Given the description of an element on the screen output the (x, y) to click on. 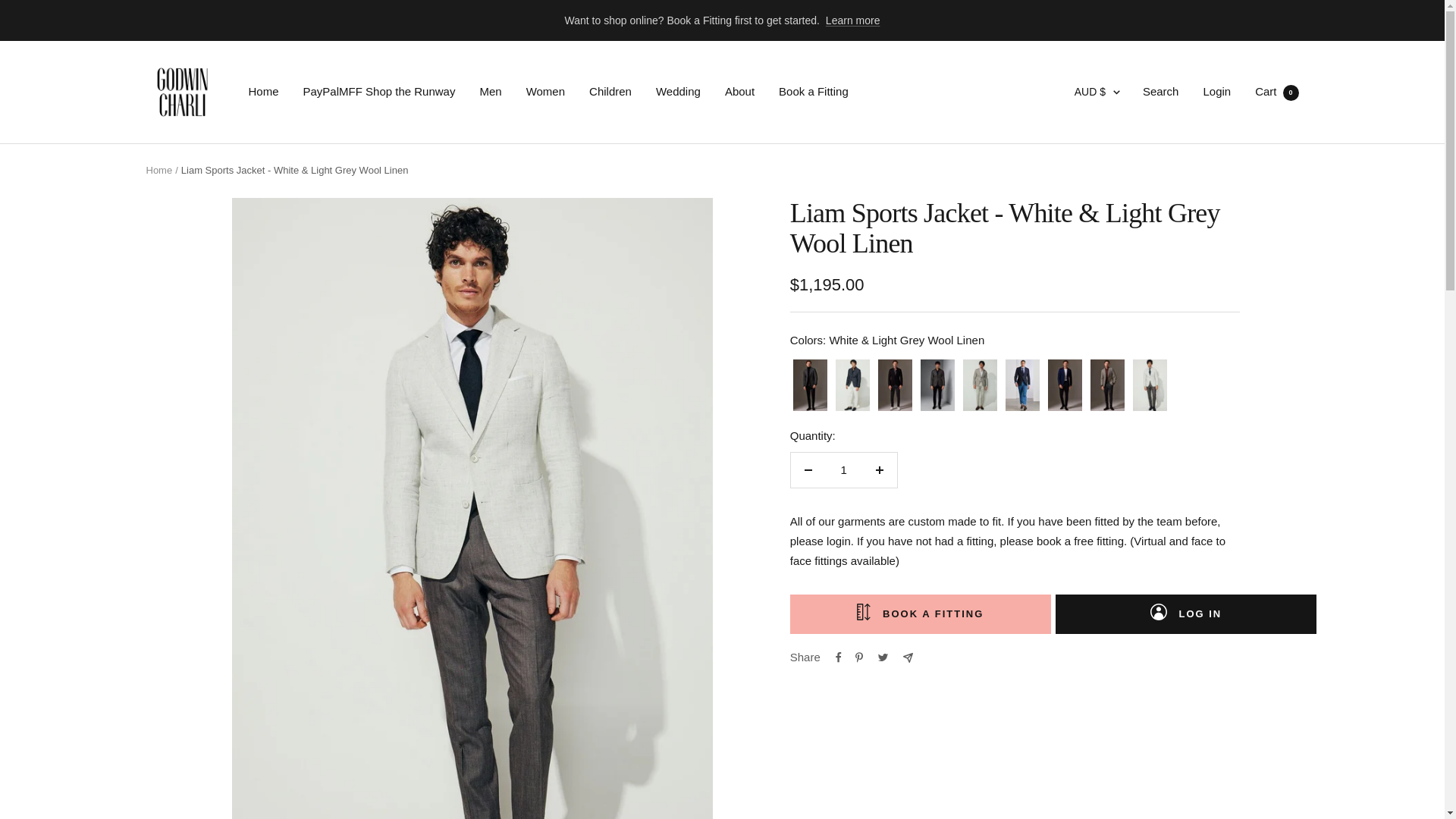
Home (263, 91)
Learn more (852, 20)
1 (843, 469)
Women (544, 91)
Home (158, 170)
AUD (1083, 143)
Men (1276, 91)
About (489, 91)
SAR (739, 91)
